Given the description of an element on the screen output the (x, y) to click on. 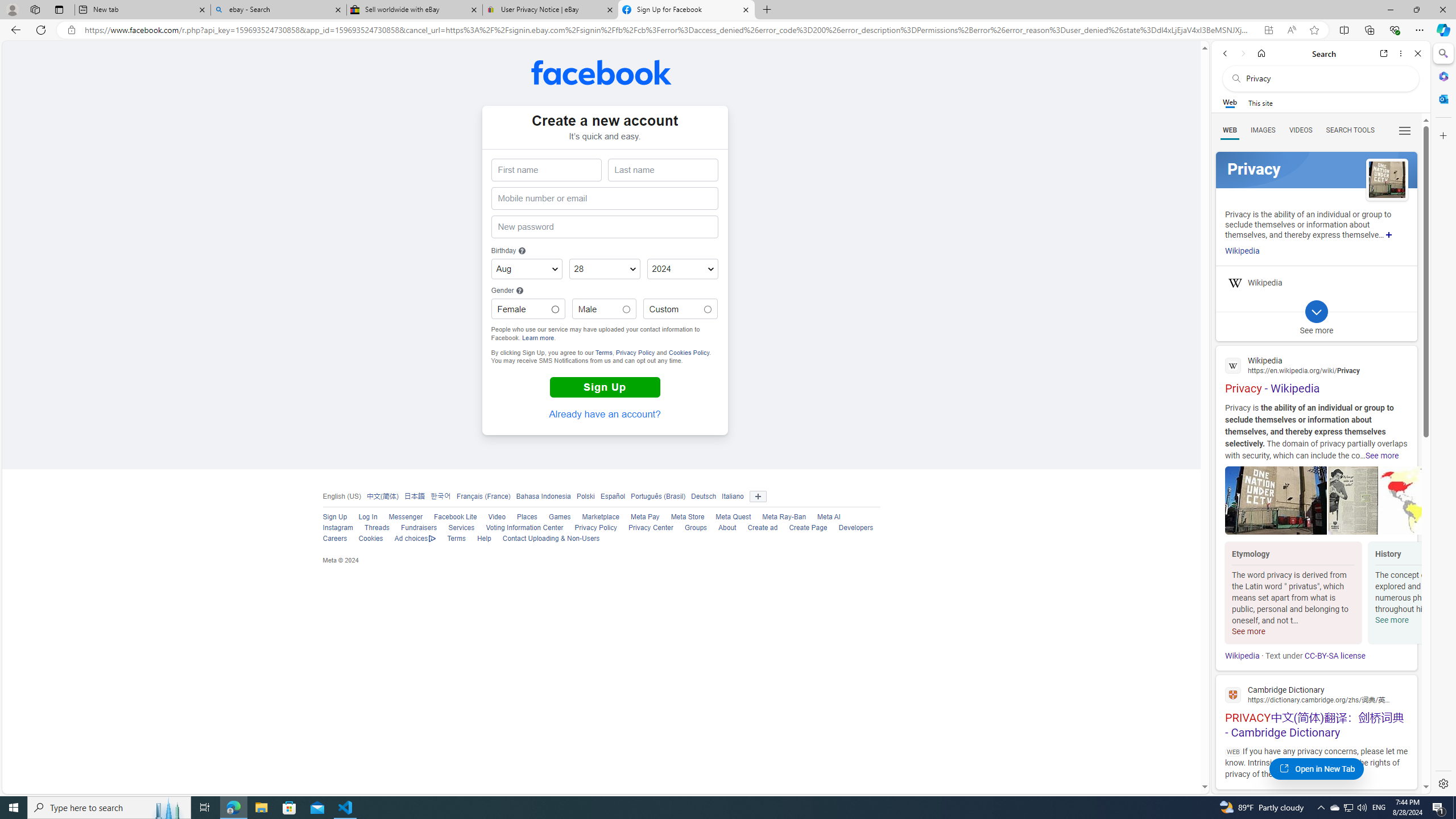
Privacy Center (650, 528)
Facebook Lite (449, 517)
Video (490, 517)
Services (461, 528)
Side bar (1443, 418)
Deutsch (700, 496)
See more images of Privacy (1386, 180)
First name (545, 169)
